Given the description of an element on the screen output the (x, y) to click on. 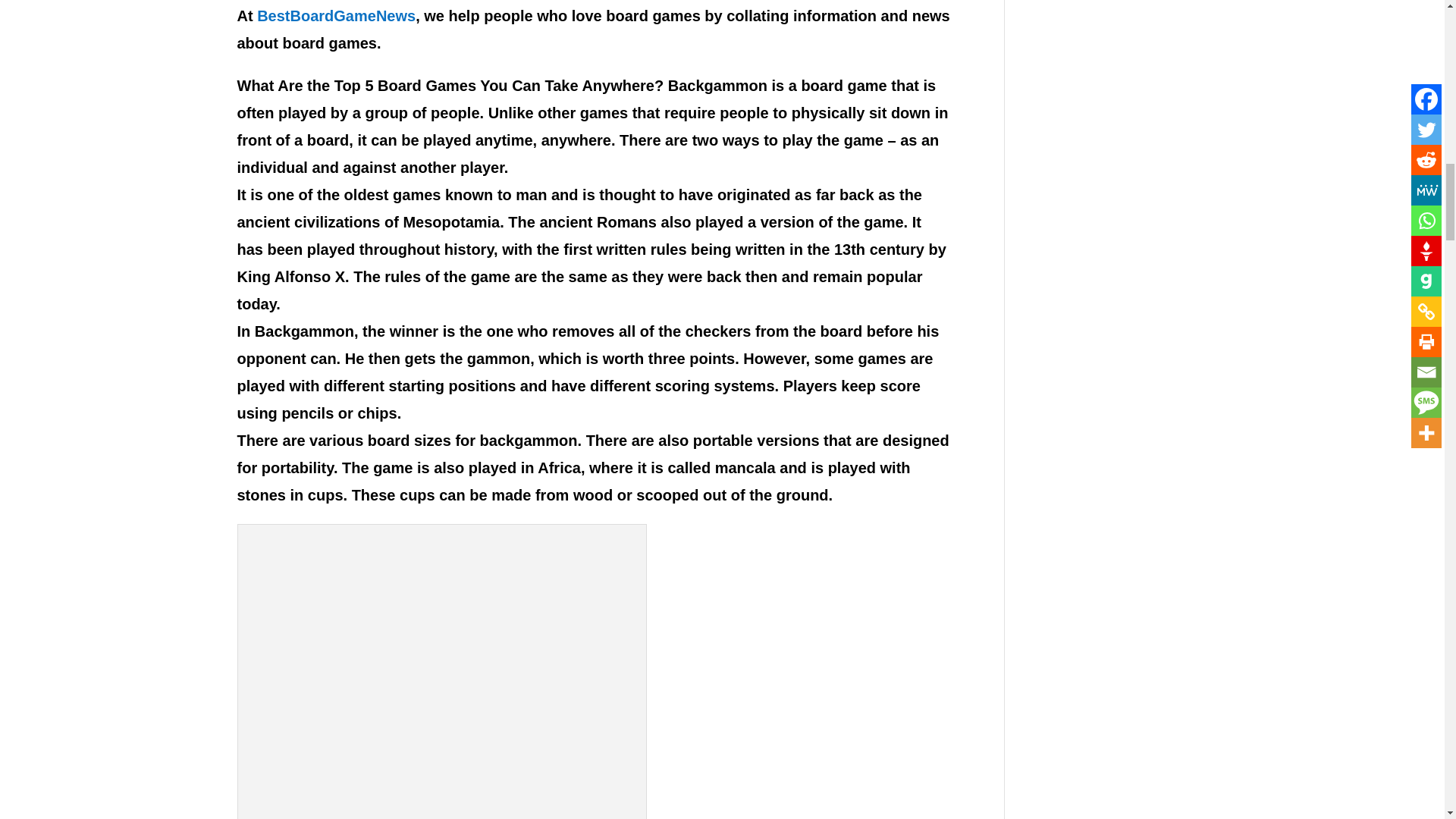
BestBoardGameNews (335, 15)
Can Backgammon Make Any Gathering More Fun? (442, 674)
